Given the description of an element on the screen output the (x, y) to click on. 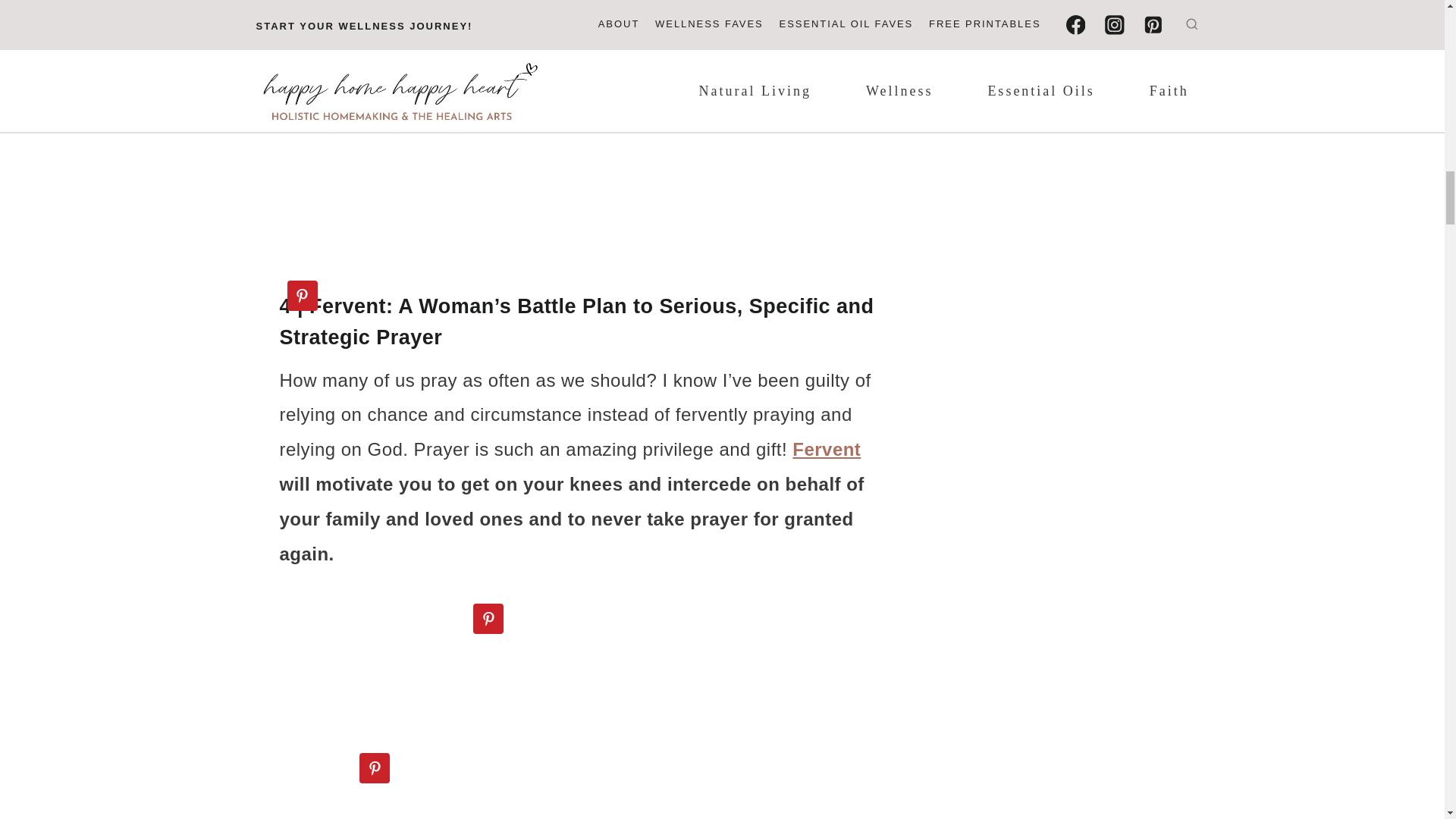
Fervent (826, 448)
